Given the description of an element on the screen output the (x, y) to click on. 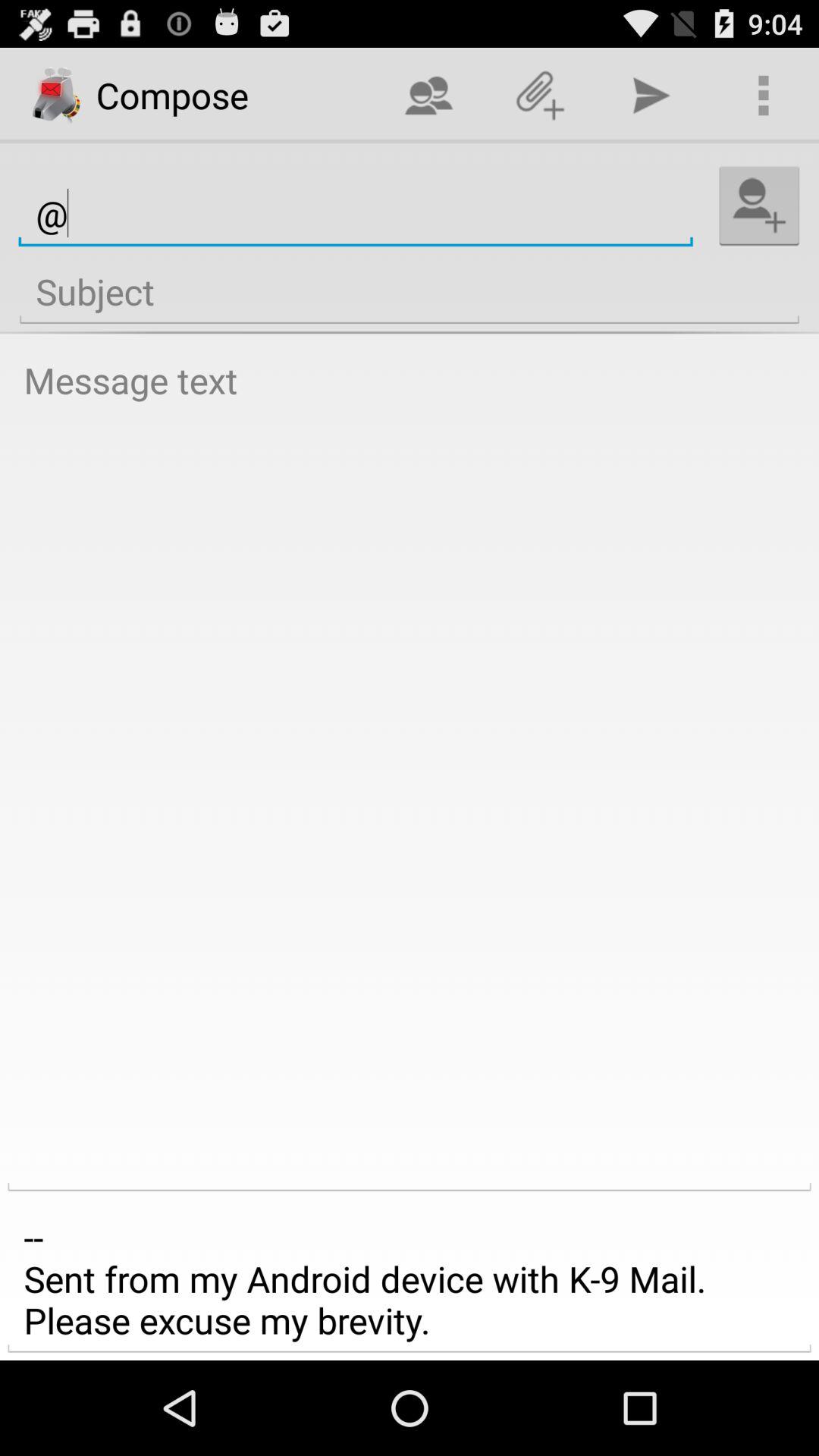
tap the item above the sent from my (409, 769)
